Given the description of an element on the screen output the (x, y) to click on. 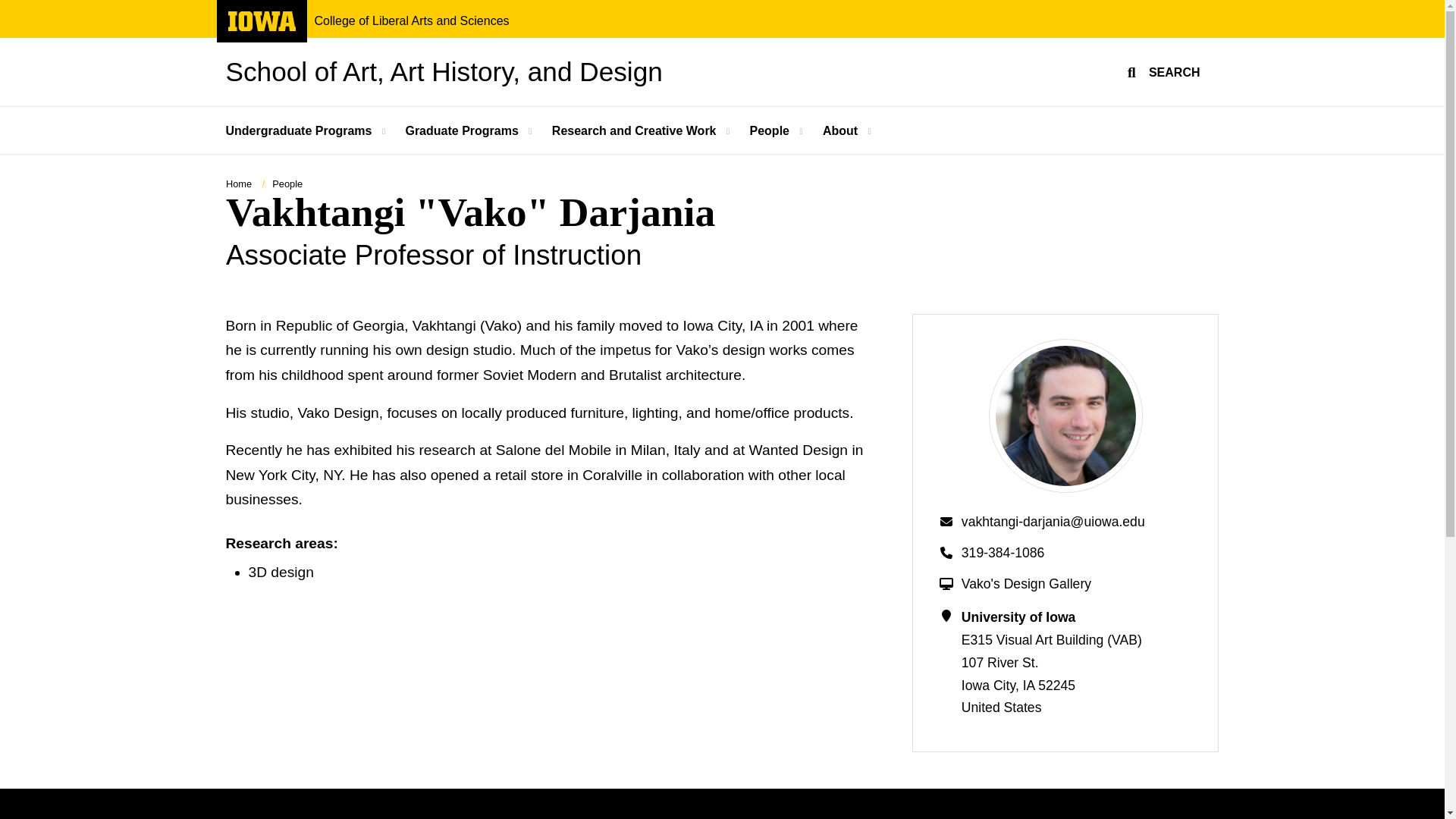
Skip to main content (7, 7)
Undergraduate Programs (261, 26)
Graduate Programs (307, 130)
College of Liberal Arts and Sciences (462, 130)
School of Art, Art History, and Design (411, 20)
SEARCH (443, 71)
University of Iowa (1162, 71)
